Given the description of an element on the screen output the (x, y) to click on. 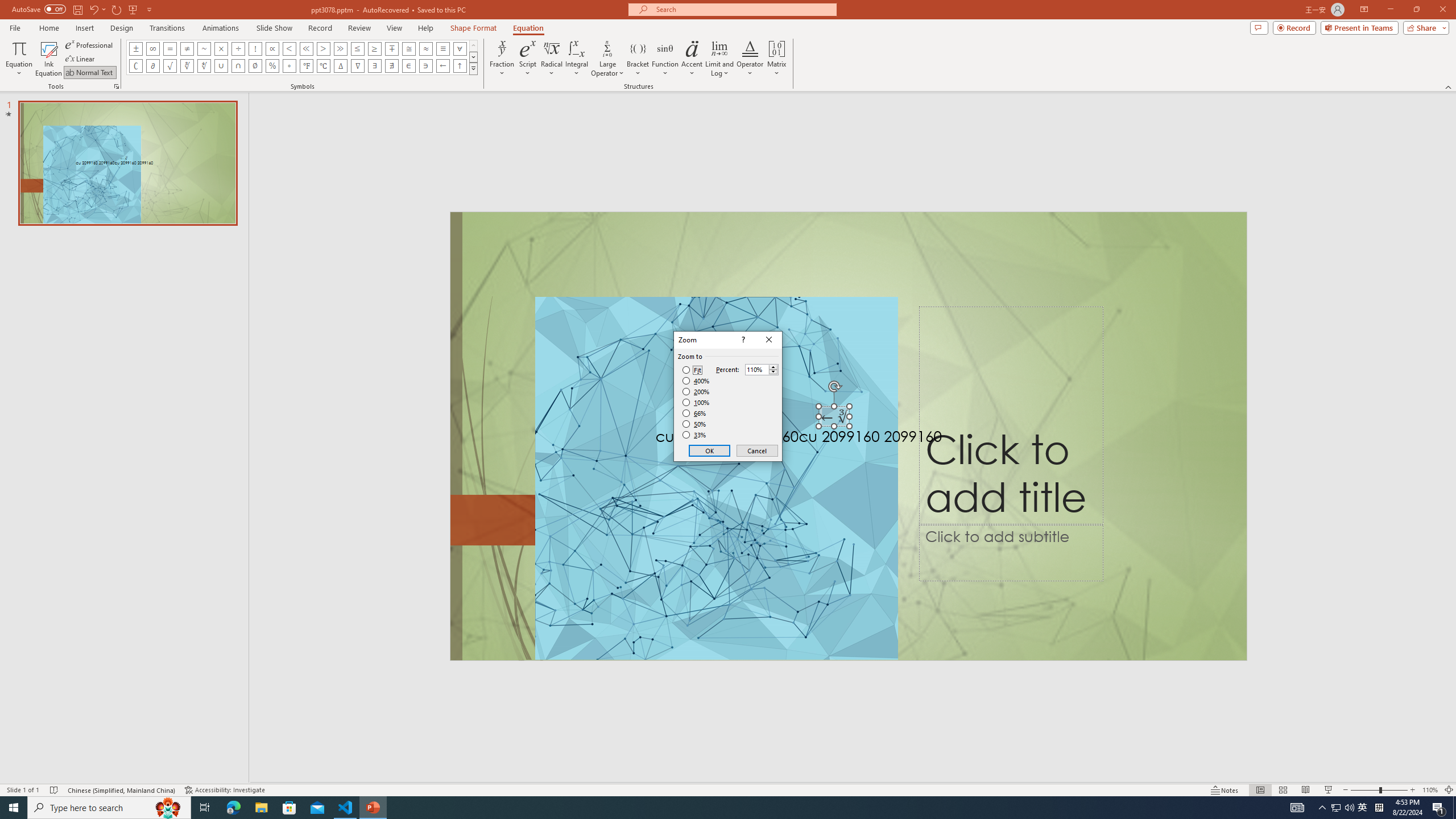
Equation Symbol Greater Than (322, 48)
66% (694, 412)
Equation Symbol Much Less Than (306, 48)
Fit (691, 370)
Equation Symbol Greater Than or Equal To (374, 48)
